Given the description of an element on the screen output the (x, y) to click on. 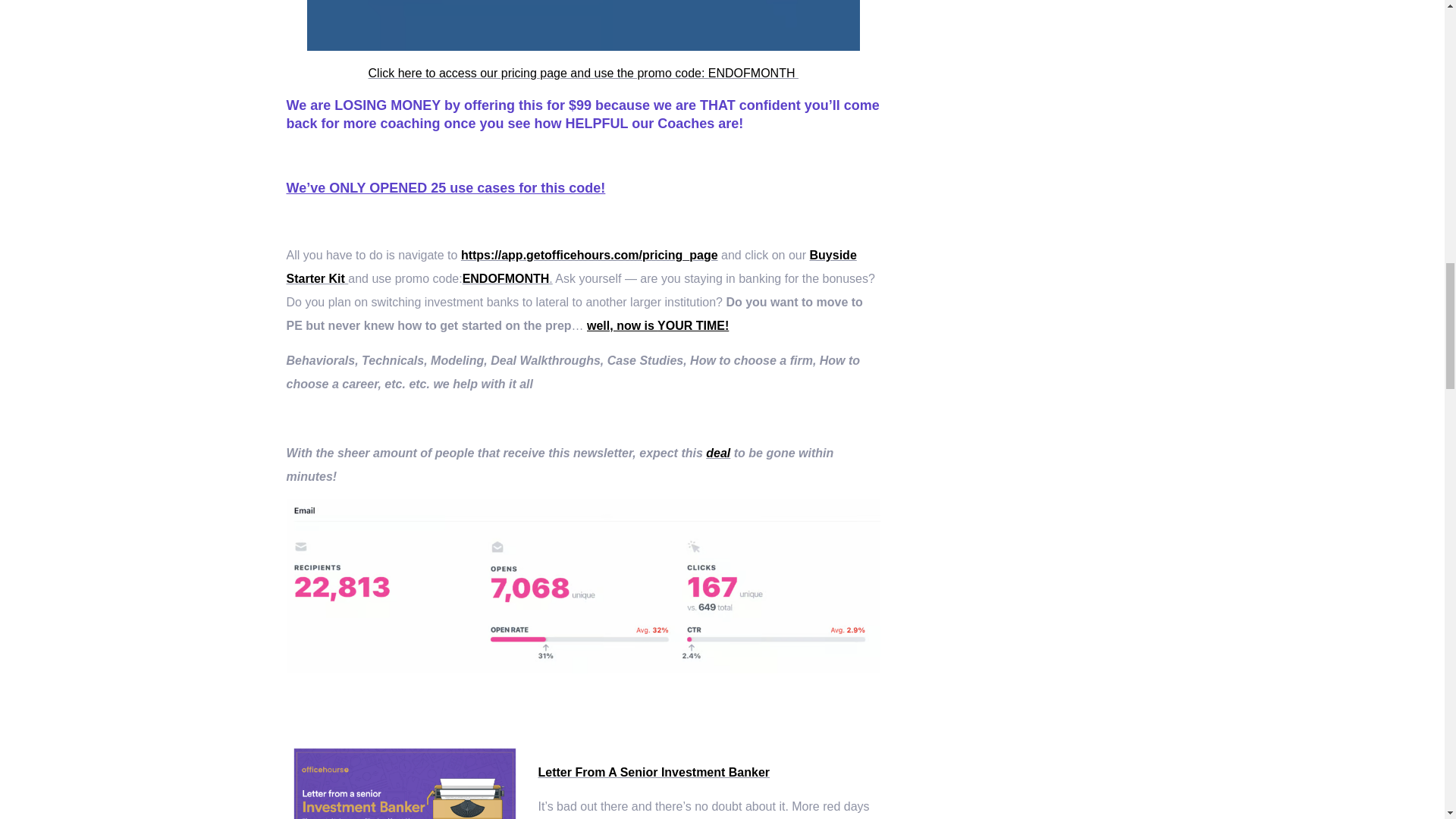
Buyside Starter Kit (571, 266)
deal (718, 452)
well, now is YOUR TIME! (657, 325)
ENDOFMONTH (506, 278)
Letter From A Senior Investment Banker (654, 771)
